Given the description of an element on the screen output the (x, y) to click on. 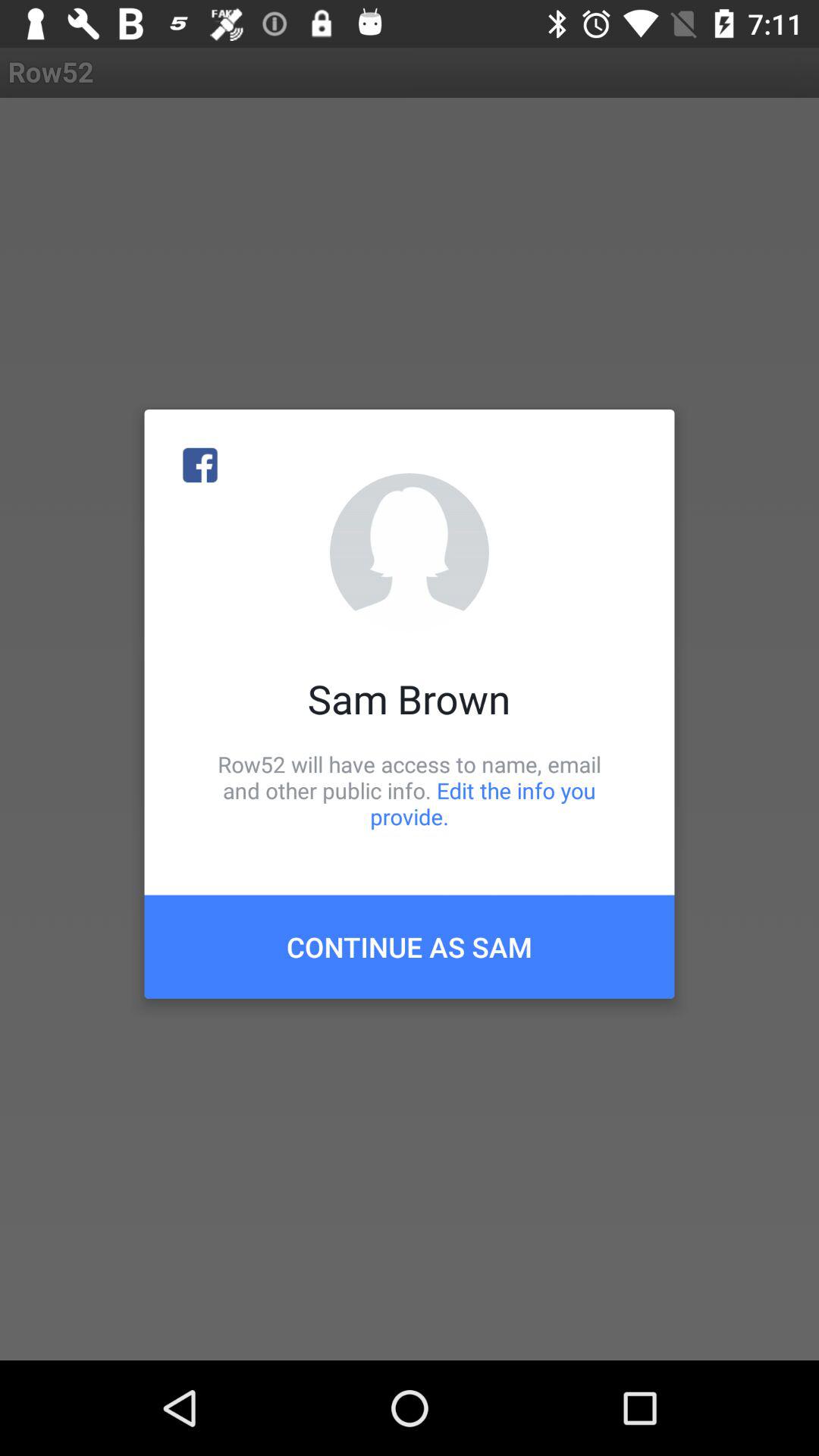
flip to the continue as sam item (409, 946)
